Given the description of an element on the screen output the (x, y) to click on. 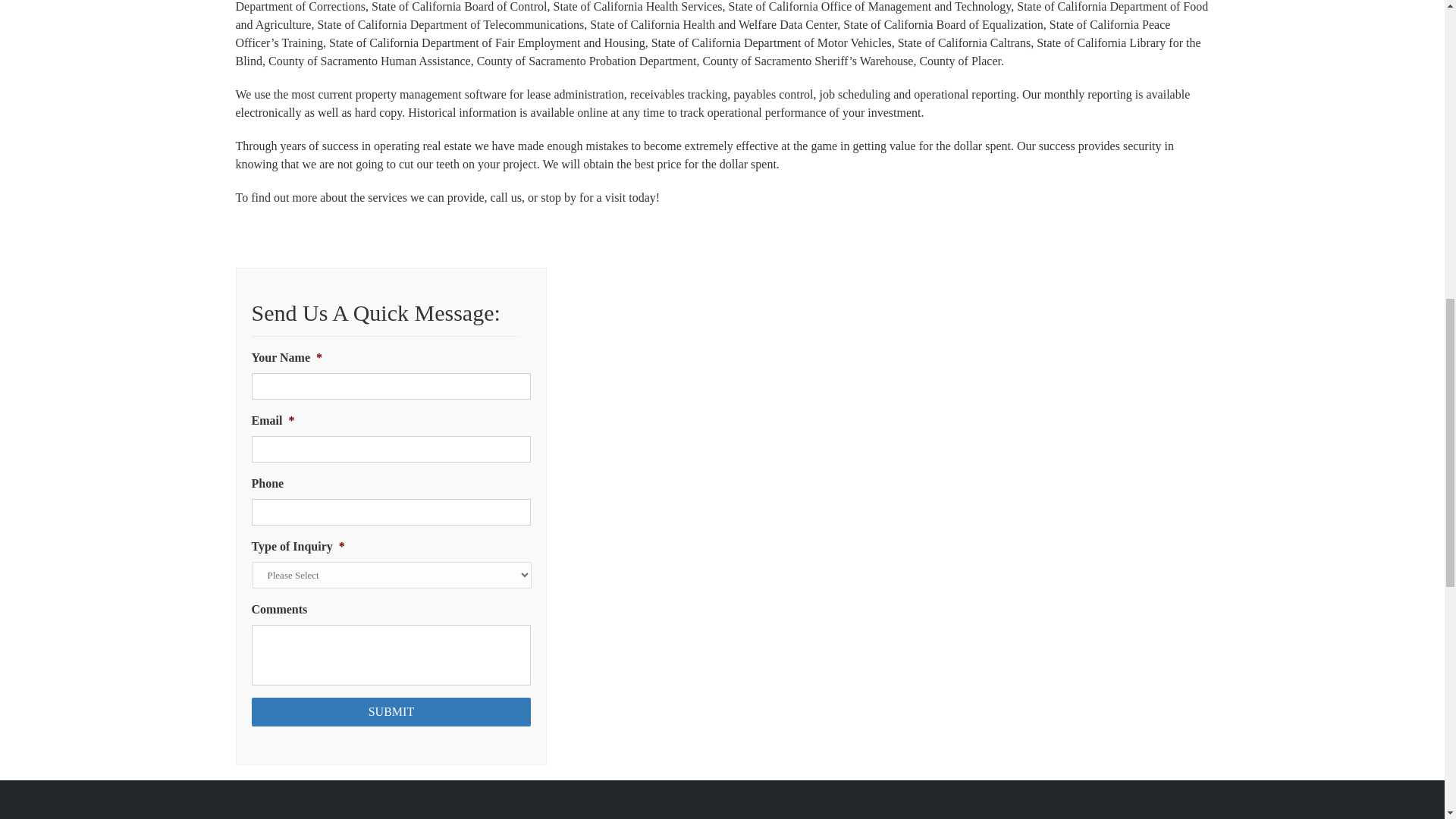
Submit (391, 711)
